Given the description of an element on the screen output the (x, y) to click on. 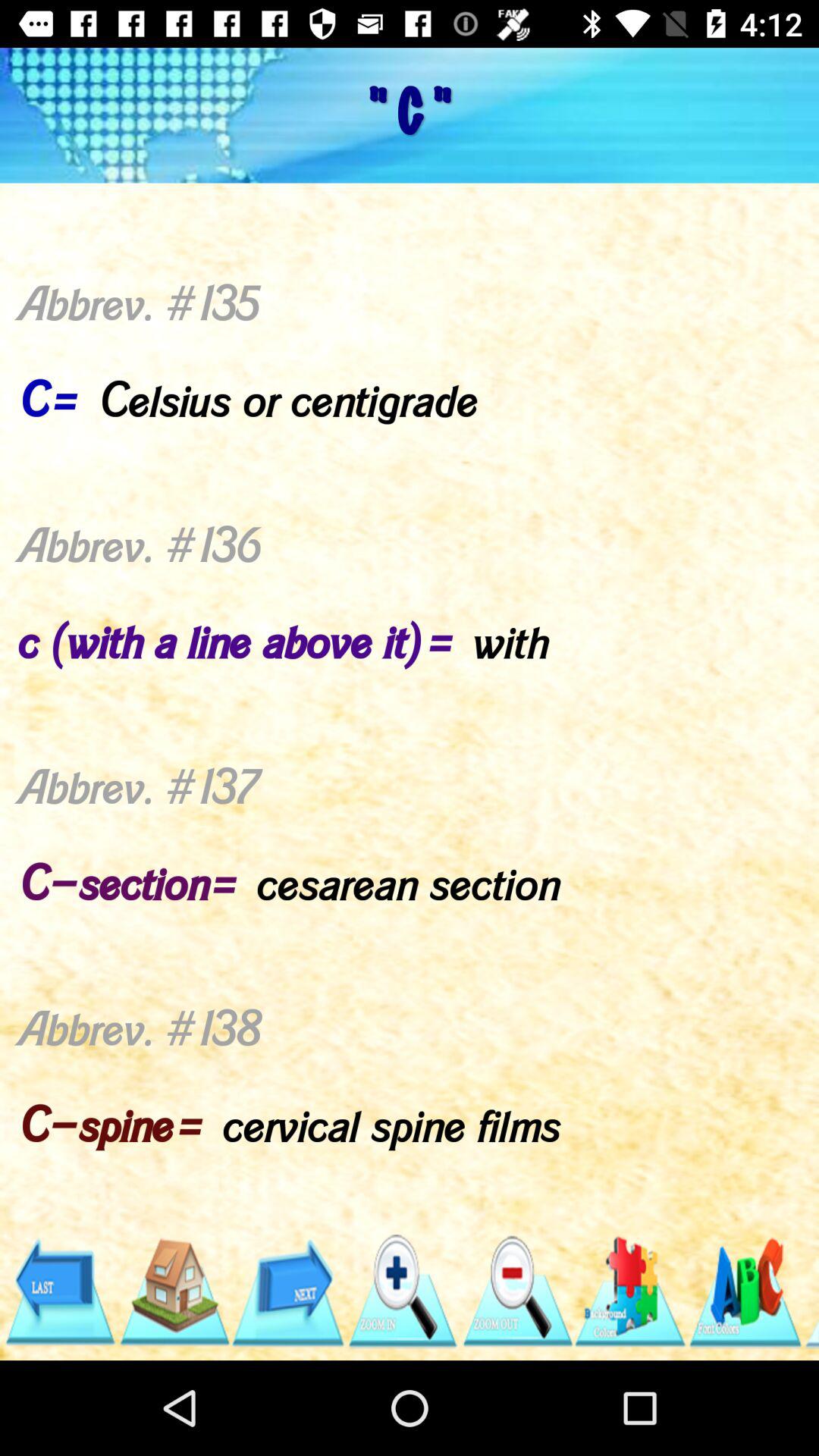
launch the item below the abbrev 	135	 	c (59, 1291)
